Given the description of an element on the screen output the (x, y) to click on. 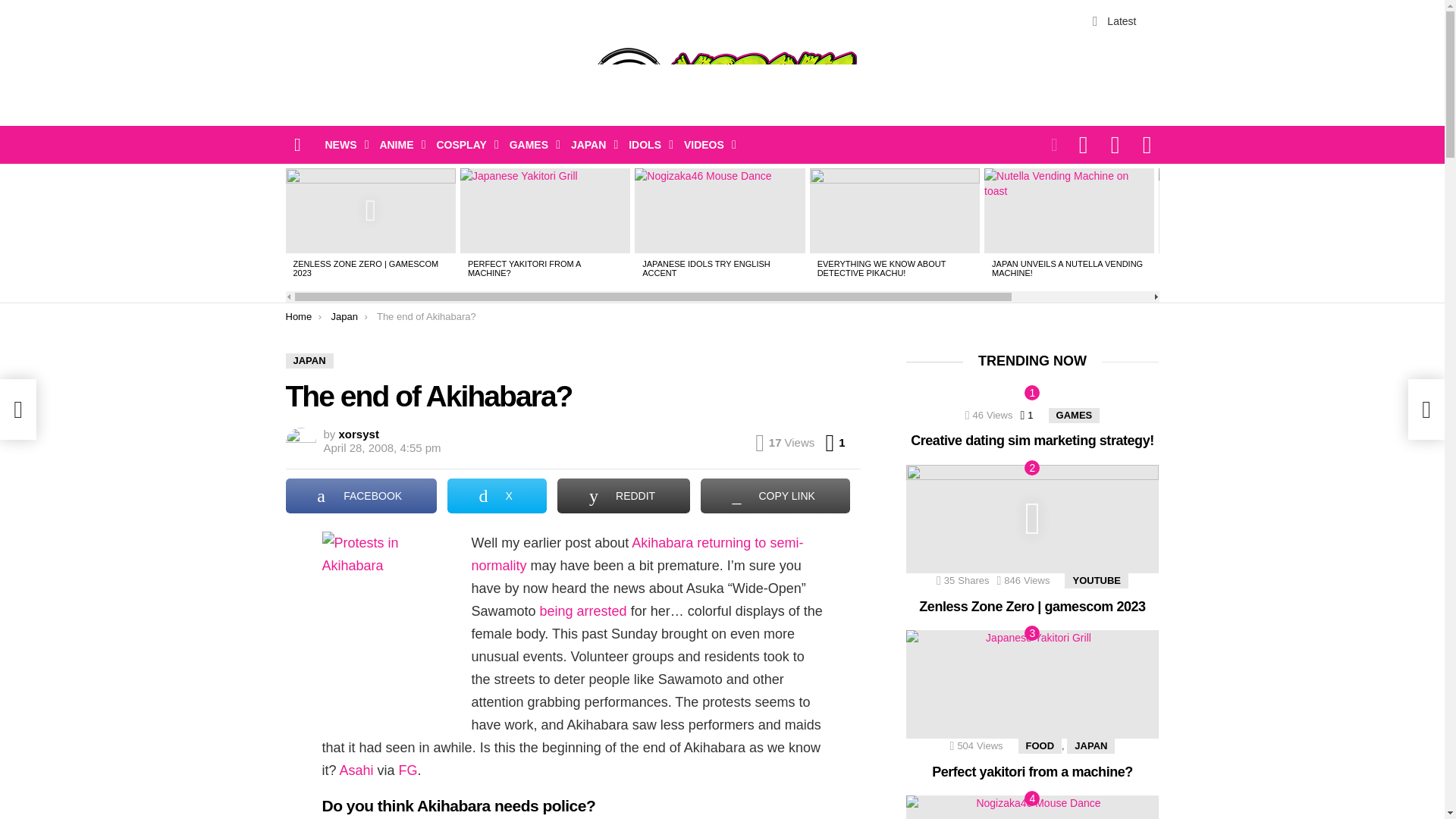
GAMES (531, 144)
Latest (1114, 20)
ANIME (398, 144)
Menu (296, 144)
NEWS (342, 144)
COSPLAY (462, 144)
